Given the description of an element on the screen output the (x, y) to click on. 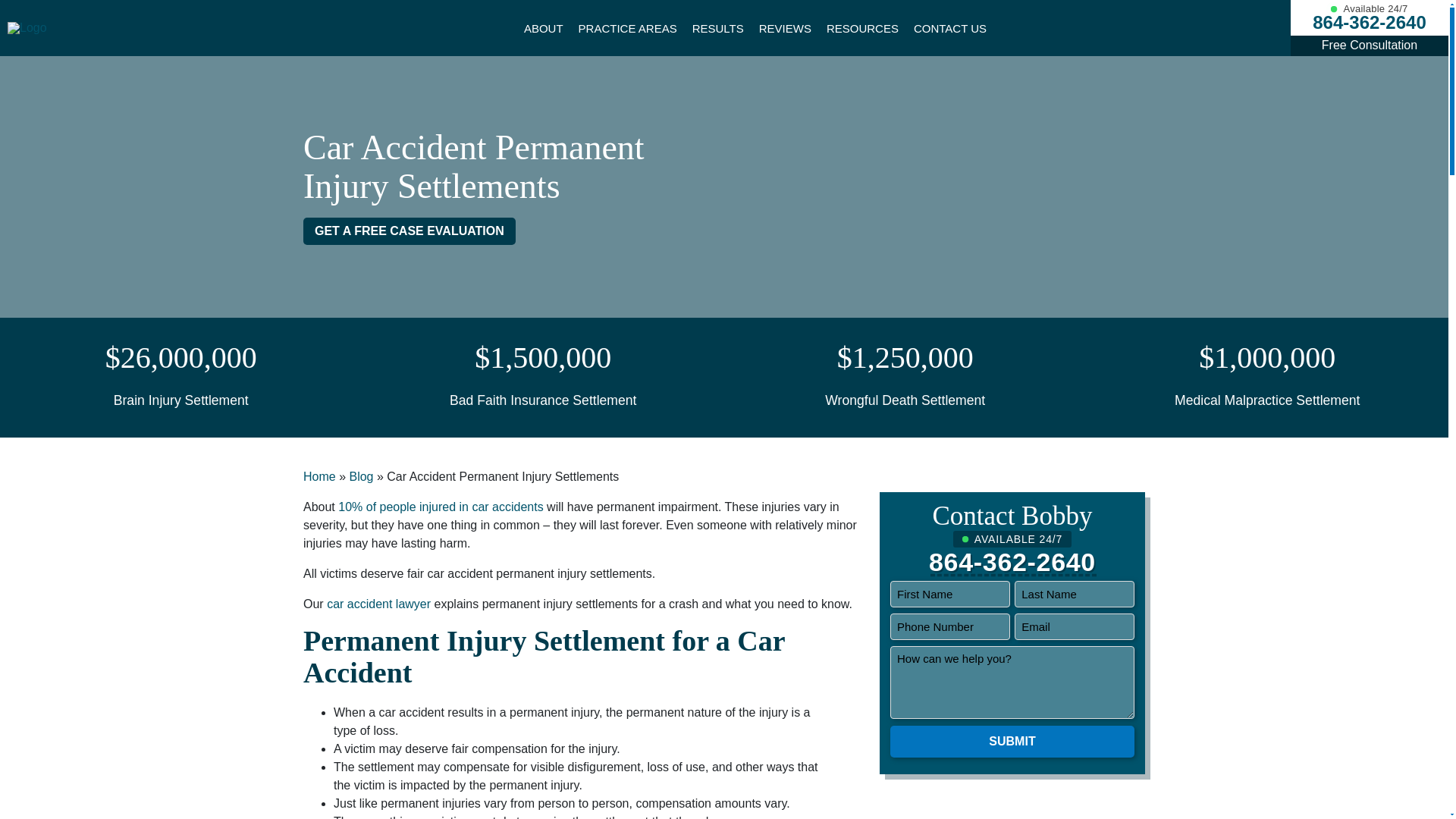
homepage (26, 27)
